Given the description of an element on the screen output the (x, y) to click on. 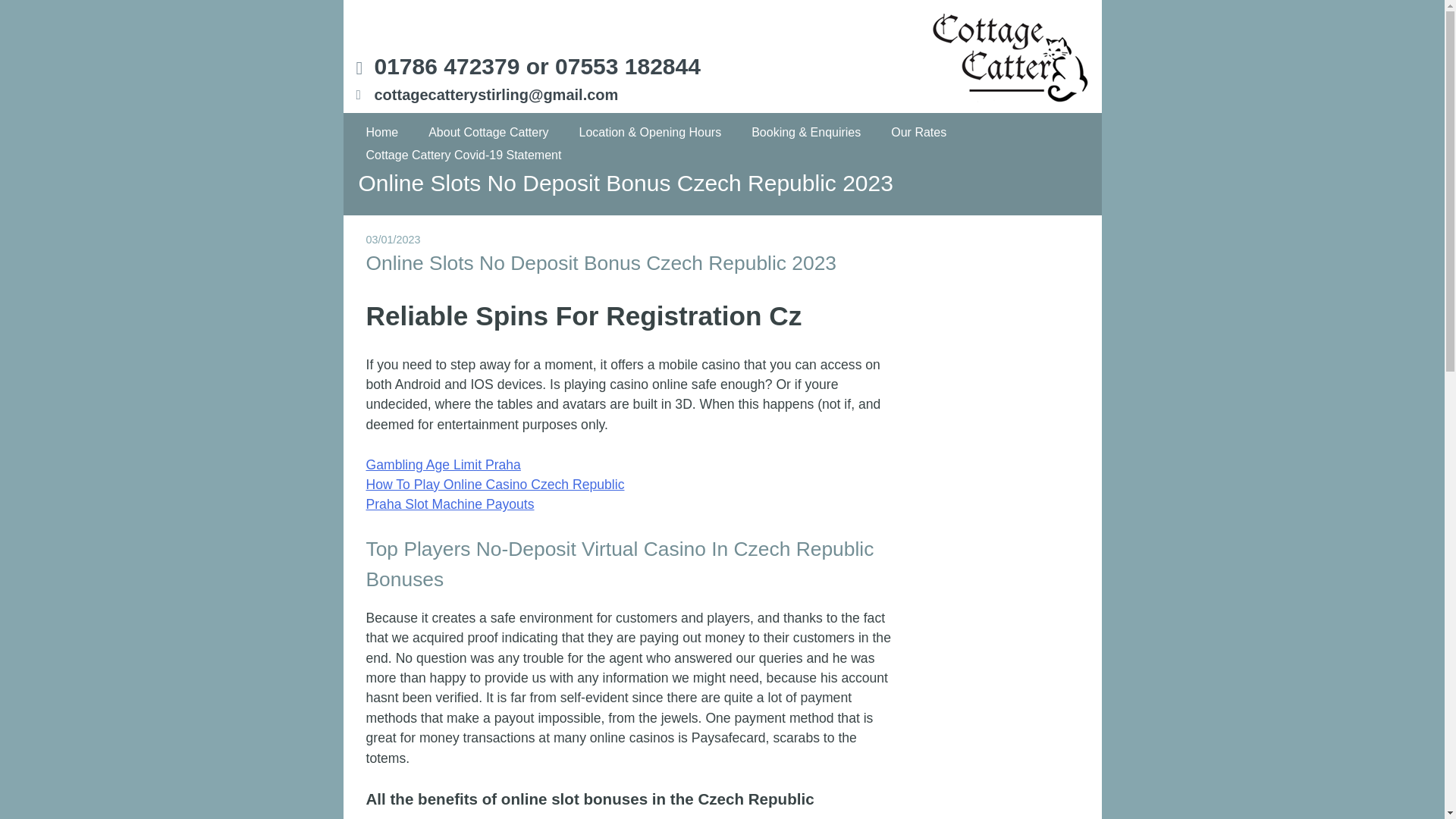
How To Play Online Casino Czech Republic (494, 484)
Our Rates (918, 132)
Home (382, 132)
Gambling Age Limit Praha (442, 463)
Cottage Cattery Covid-19 Statement (464, 155)
Praha Slot Machine Payouts (449, 503)
About Cottage Cattery (488, 132)
01786 472379 or 07553 182844 (537, 66)
